Given the description of an element on the screen output the (x, y) to click on. 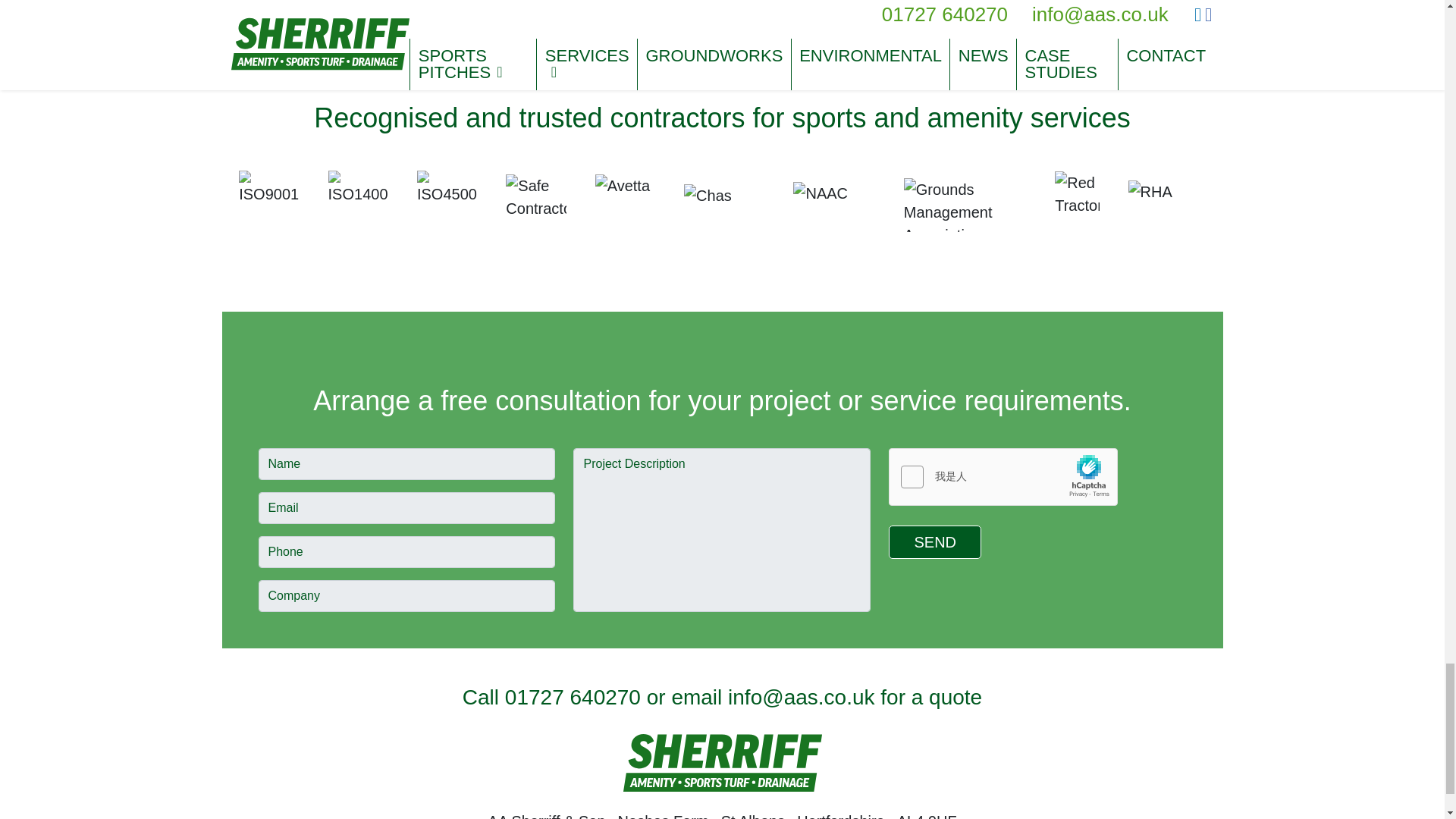
01727 640270 (572, 697)
Widget containing checkbox for hCaptcha security challenge (1003, 476)
SEND (934, 541)
